Given the description of an element on the screen output the (x, y) to click on. 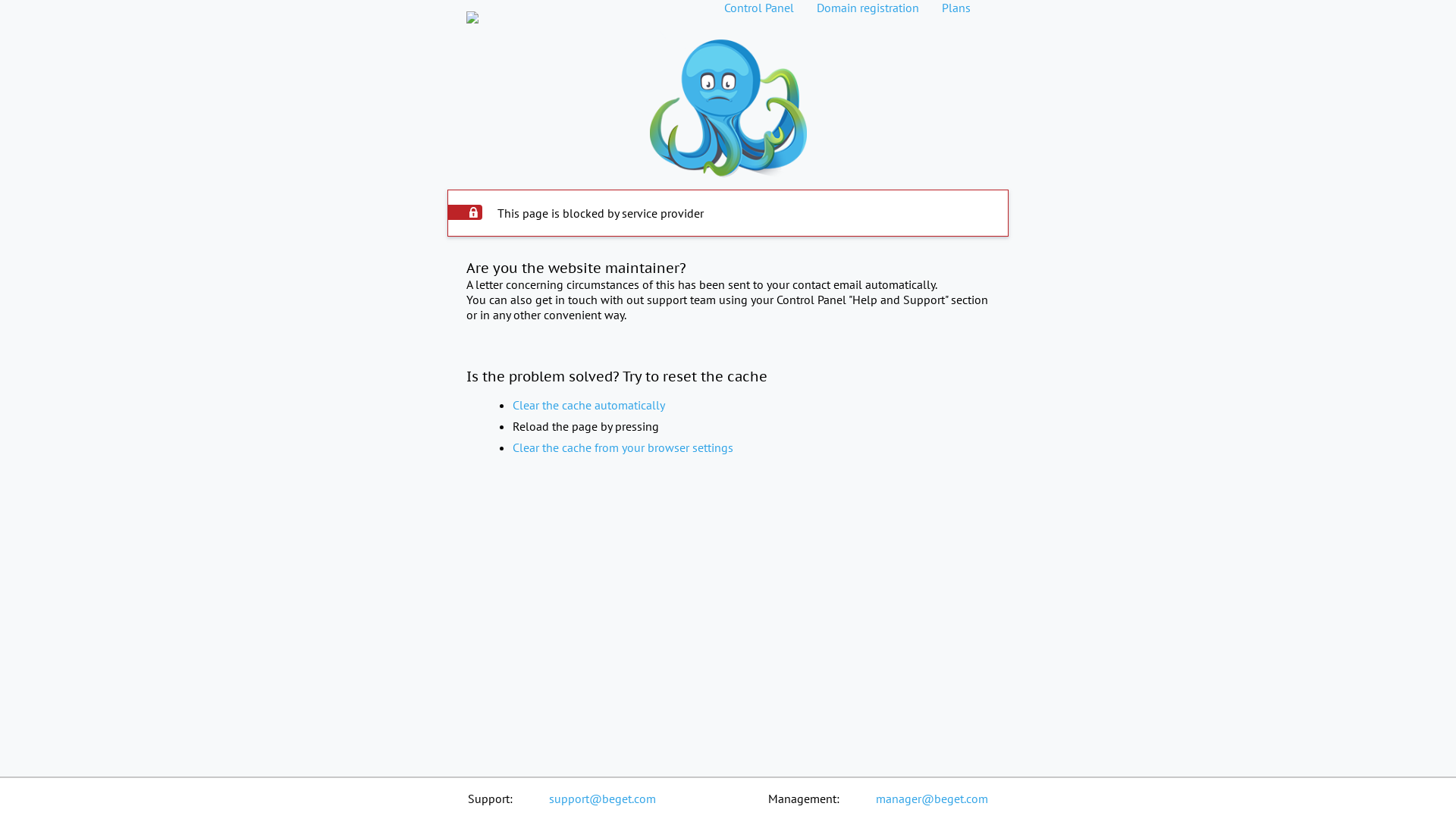
Clear the cache from your browser settings Element type: text (622, 447)
support@beget.com Element type: text (602, 798)
manager@beget.com Element type: text (931, 798)
Web hosting home page Element type: hover (472, 7)
Domain registration Element type: text (867, 7)
Plans Element type: text (956, 7)
Control Panel Element type: text (758, 7)
Clear the cache automatically Element type: text (588, 404)
